Given the description of an element on the screen output the (x, y) to click on. 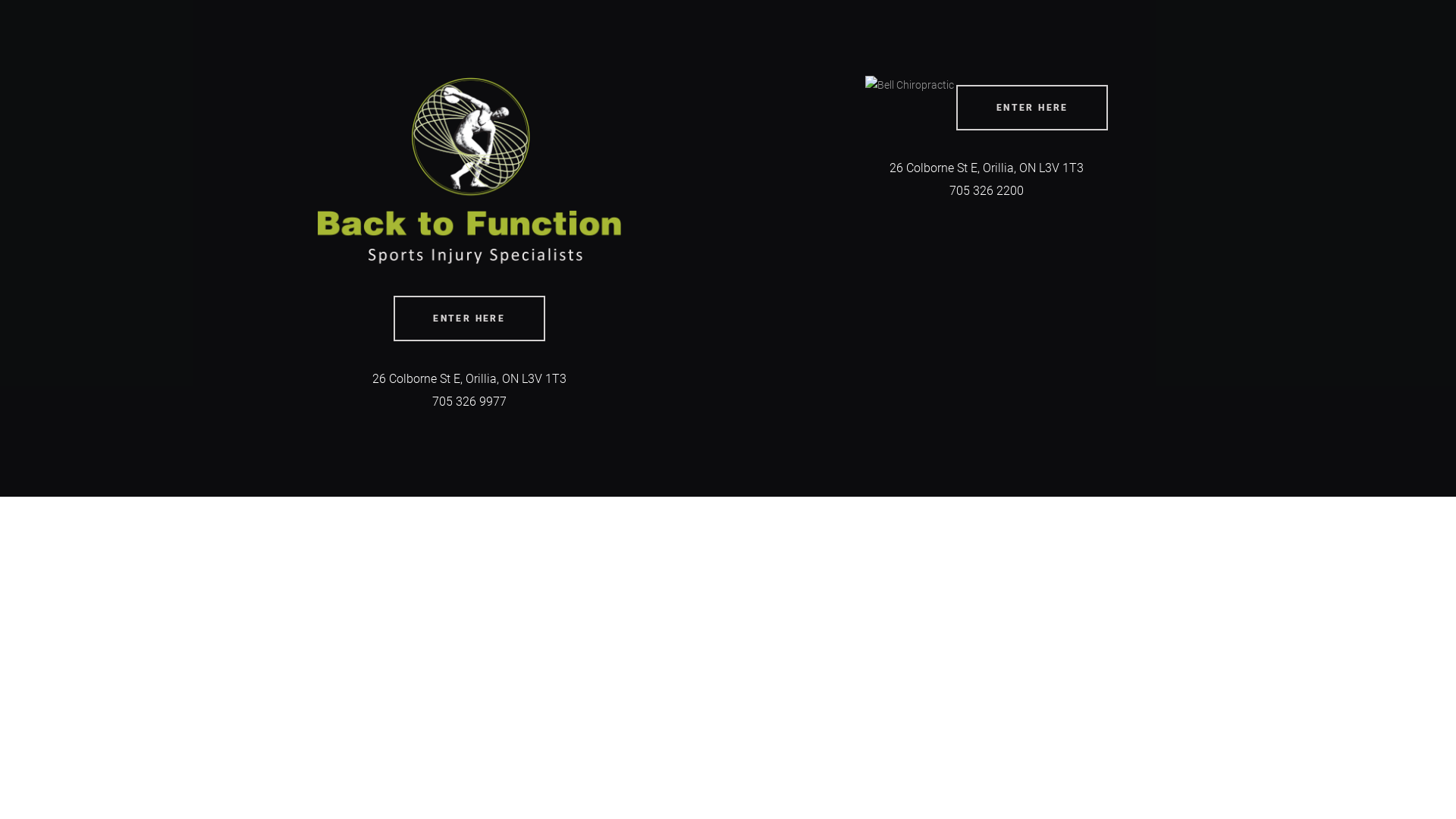
ENTER HERE Element type: text (469, 318)
ENTER HERE Element type: text (1031, 107)
